Given the description of an element on the screen output the (x, y) to click on. 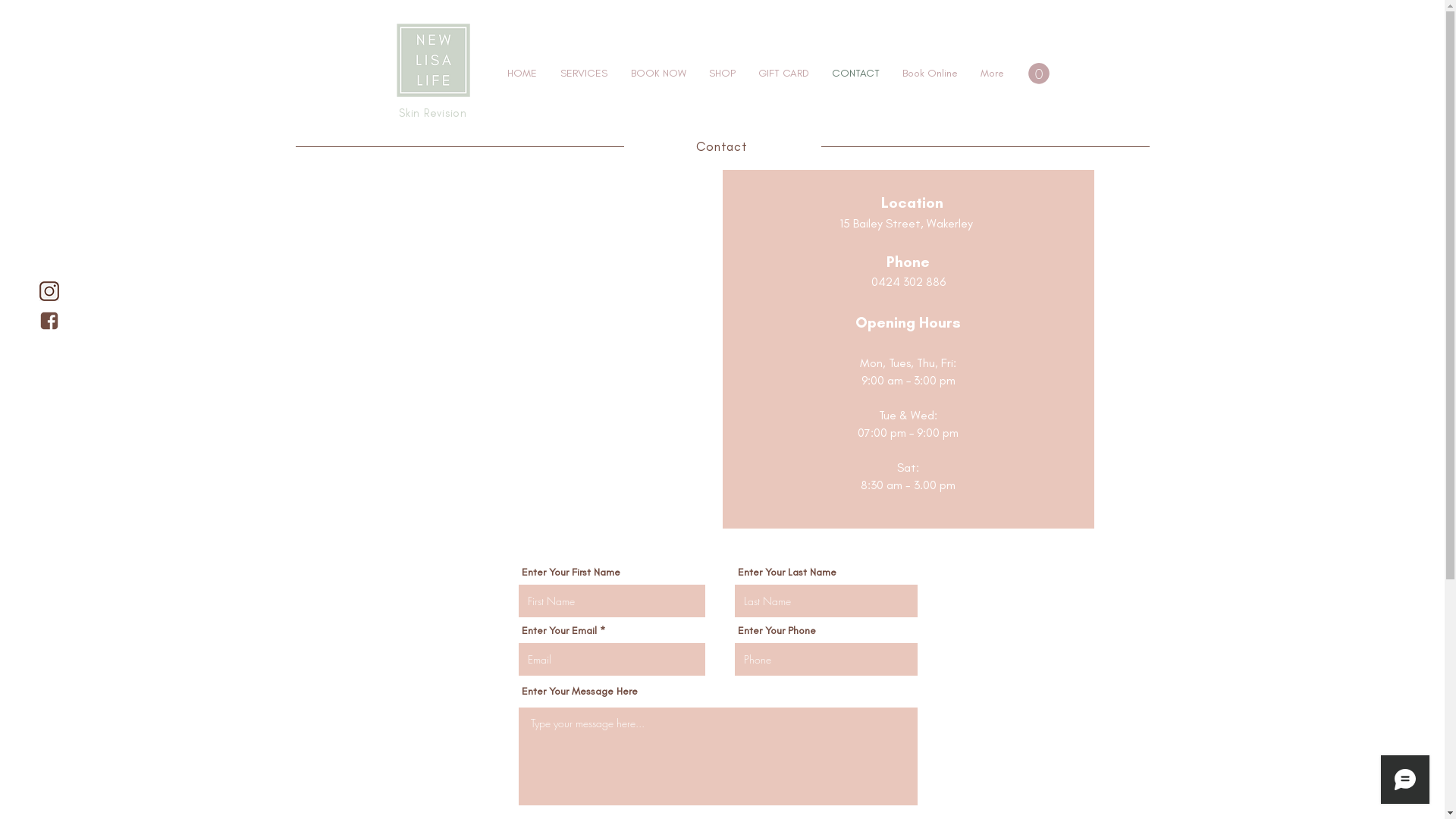
Phone Element type: text (907, 261)
CONTACT Element type: text (855, 73)
SERVICES Element type: text (584, 73)
New Lisa Life Element type: hover (432, 60)
0 Element type: text (1038, 73)
GIFT CARD Element type: text (782, 73)
BOOK NOW Element type: text (657, 73)
Book Online Element type: text (929, 73)
HOME Element type: text (522, 73)
